Given the description of an element on the screen output the (x, y) to click on. 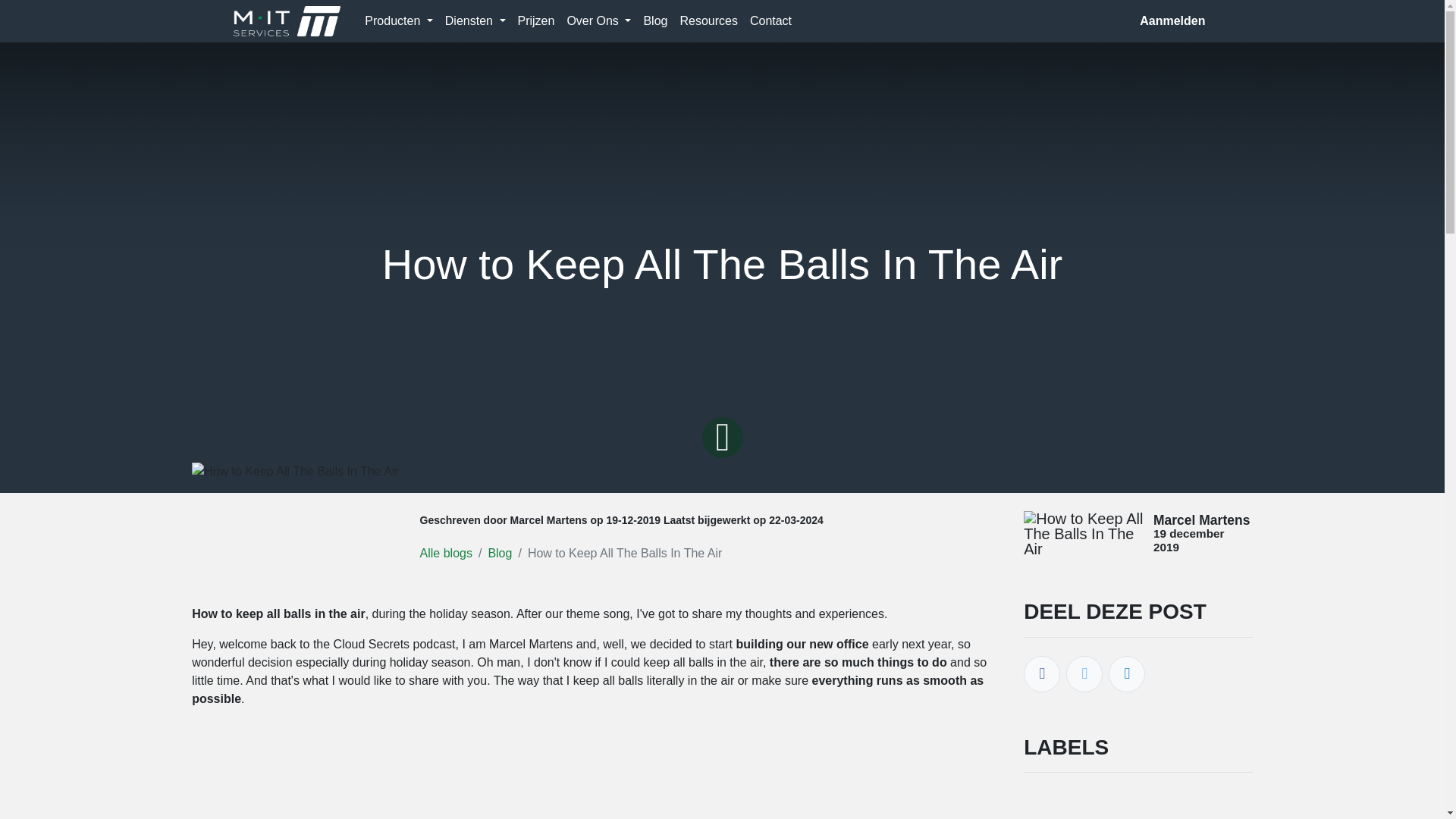
Producten (398, 20)
Contact (770, 20)
Resources (707, 20)
Alle blogs (445, 553)
Blog (499, 553)
Deel op Facebook (1041, 674)
Blog (654, 20)
Deel op Twitter (1083, 674)
Diensten (475, 20)
Aanmelden (1172, 20)
